Given the description of an element on the screen output the (x, y) to click on. 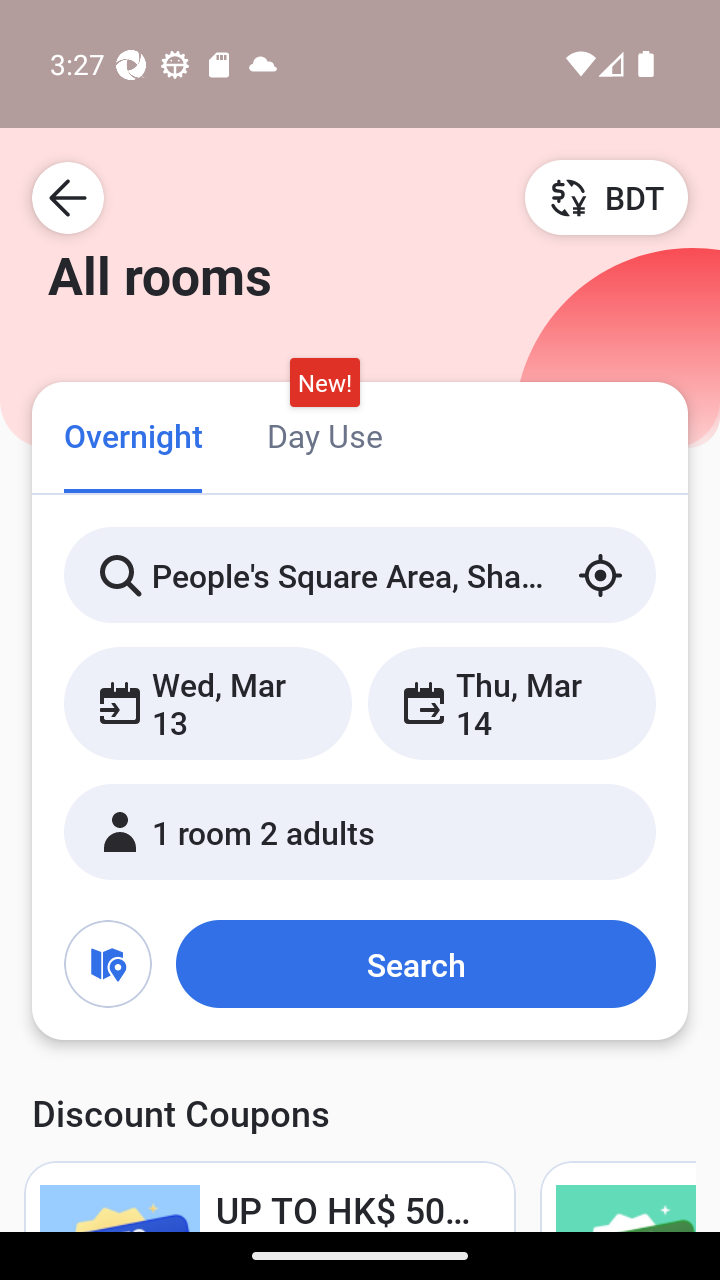
BDT (606, 197)
New! (324, 383)
Day Use (324, 434)
People's Square Area, Shanghai (359, 575)
Wed, Mar 13 (208, 703)
Thu, Mar 14 (511, 703)
1 room 2 adults (359, 831)
Search (415, 964)
